Given the description of an element on the screen output the (x, y) to click on. 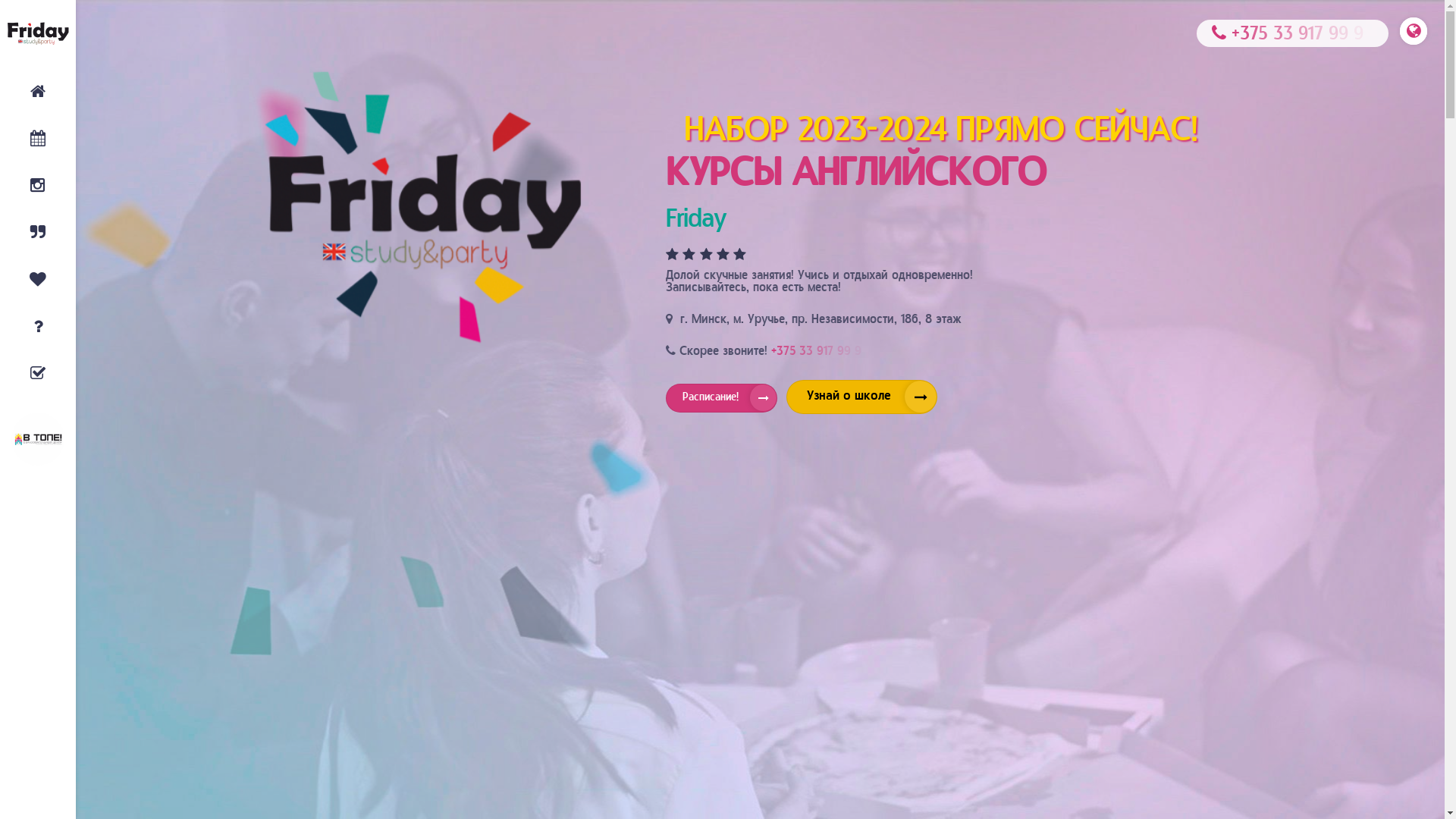
+375 33 917 99 9 Element type: text (1292, 33)
+375 33 917 99 9 Element type: text (819, 351)
